Given the description of an element on the screen output the (x, y) to click on. 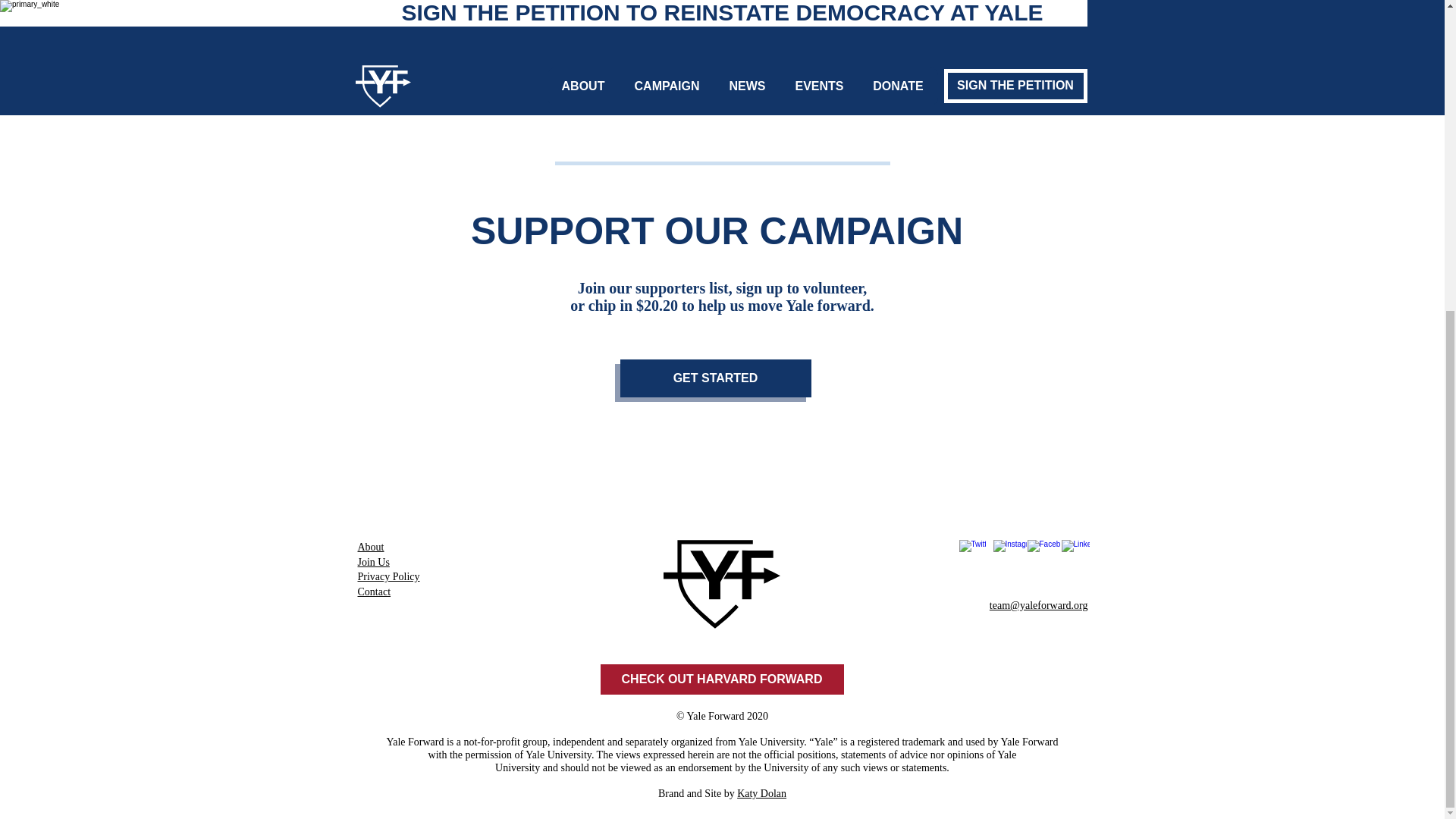
Katy Dolan (761, 793)
About (371, 546)
CHECK OUT HARVARD FORWARD (721, 679)
Contact (374, 591)
Join Us (374, 562)
GET STARTED (715, 378)
Privacy Policy (389, 576)
